Given the description of an element on the screen output the (x, y) to click on. 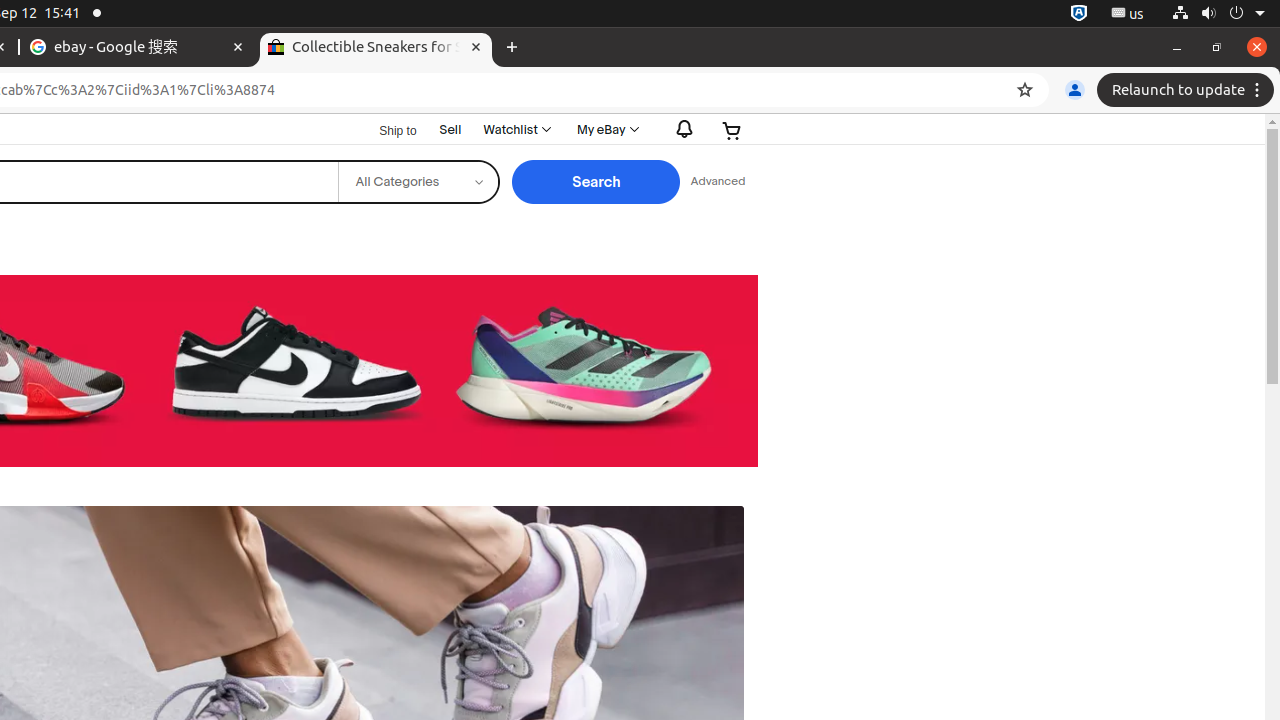
Sell Element type: link (450, 129)
Notifications Element type: push-button (679, 129)
